Given the description of an element on the screen output the (x, y) to click on. 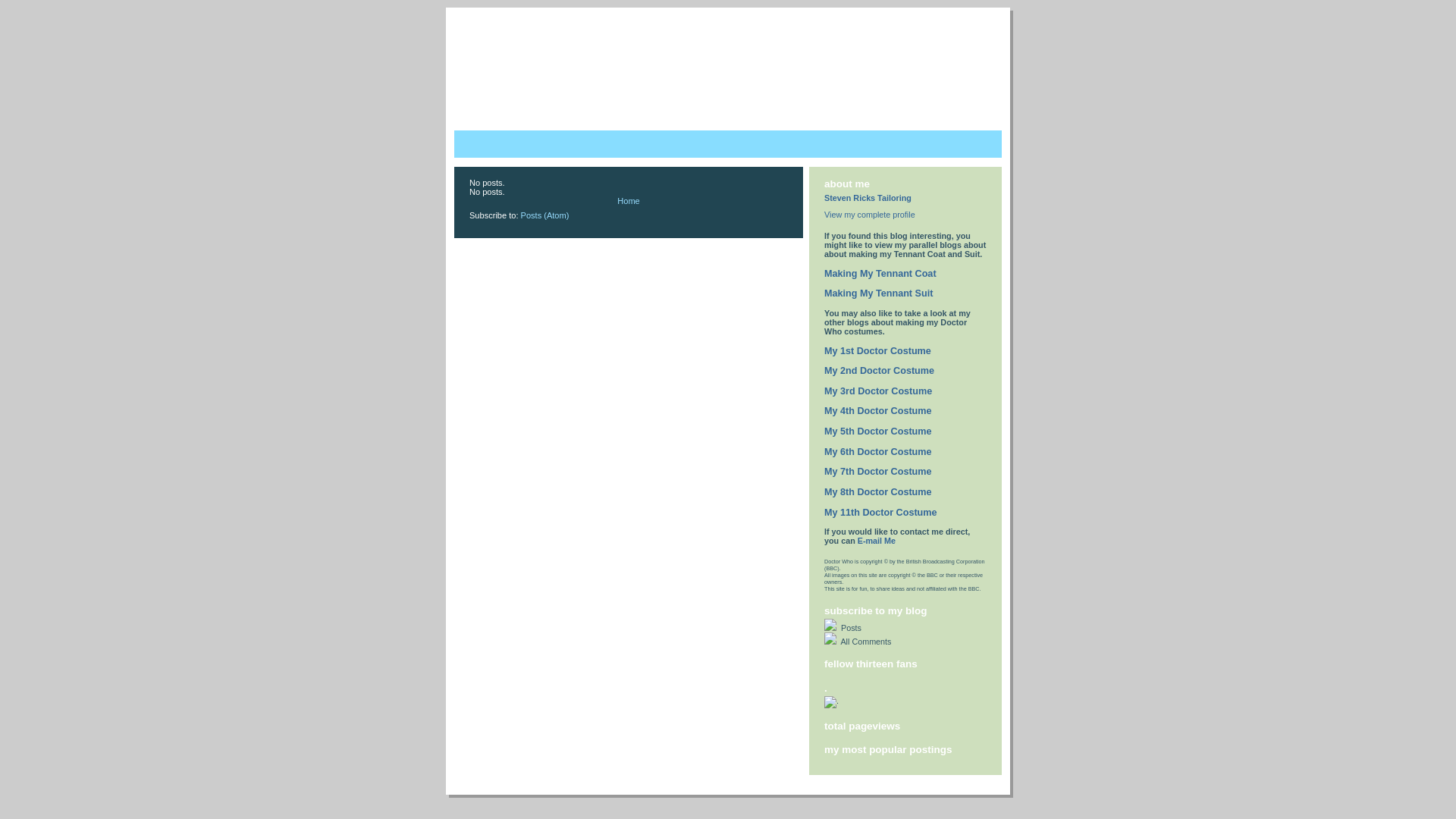
My 8th Doctor Costume Element type: text (877, 491)
Steven Ricks Tailoring Element type: text (867, 197)
All Comments Element type: text (864, 641)
My 6th Doctor Costume Element type: text (877, 451)
My 5th Doctor Costume Element type: text (877, 431)
All Comments Element type: text (905, 639)
My 7th Doctor Costume Element type: text (877, 471)
Home Element type: text (628, 200)
E-mail Me Element type: text (876, 540)
My 3rd Doctor Costume Element type: text (877, 390)
My 1st Doctor Costume Element type: text (877, 350)
View my complete profile Element type: text (869, 214)
Posts (Atom) Element type: text (544, 214)
My 4th Doctor Costume Element type: text (877, 410)
My 11th Doctor Costume Element type: text (880, 511)
My 2nd Doctor Costume Element type: text (879, 370)
Posts Element type: text (905, 625)
Making My Tennant Suit Element type: text (878, 293)
Posts Element type: text (849, 627)
Making My Tennant Coat Element type: text (880, 273)
